Given the description of an element on the screen output the (x, y) to click on. 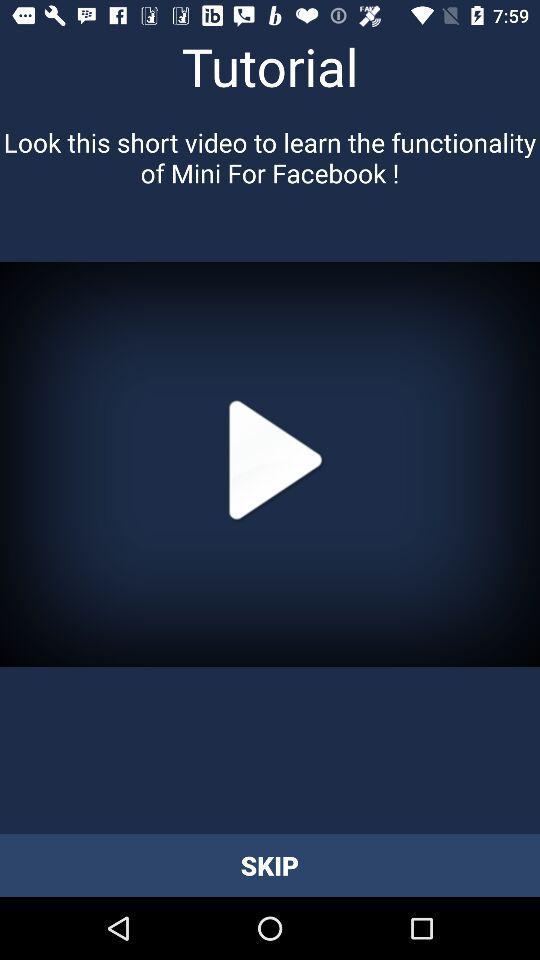
tap icon at the center (270, 463)
